Given the description of an element on the screen output the (x, y) to click on. 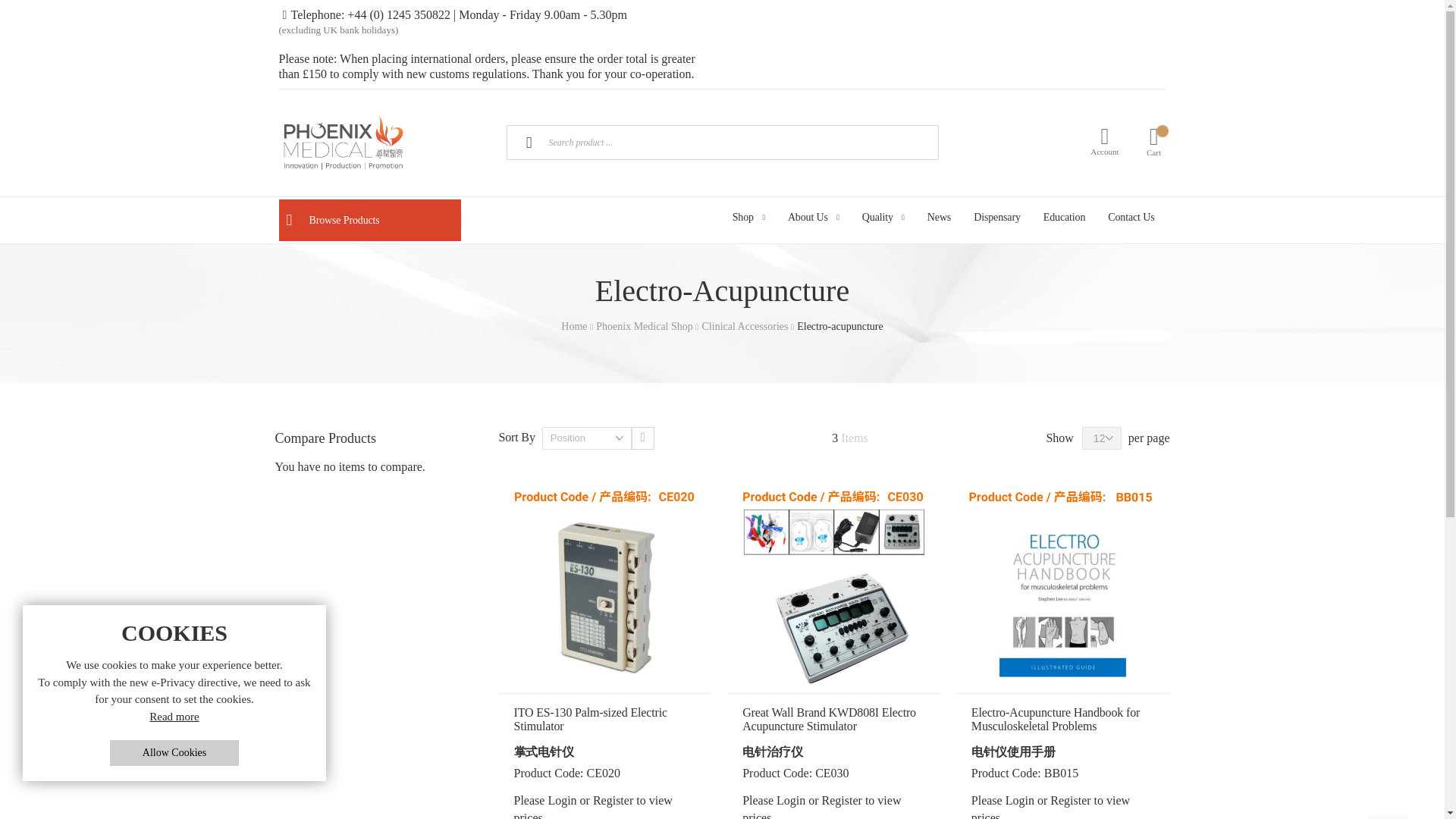
Read more (174, 716)
Account (1104, 140)
Search (528, 141)
Account (1104, 140)
Allow Cookies (174, 752)
Search (528, 141)
Magento Commerce (384, 142)
Browse Products (370, 219)
